Given the description of an element on the screen output the (x, y) to click on. 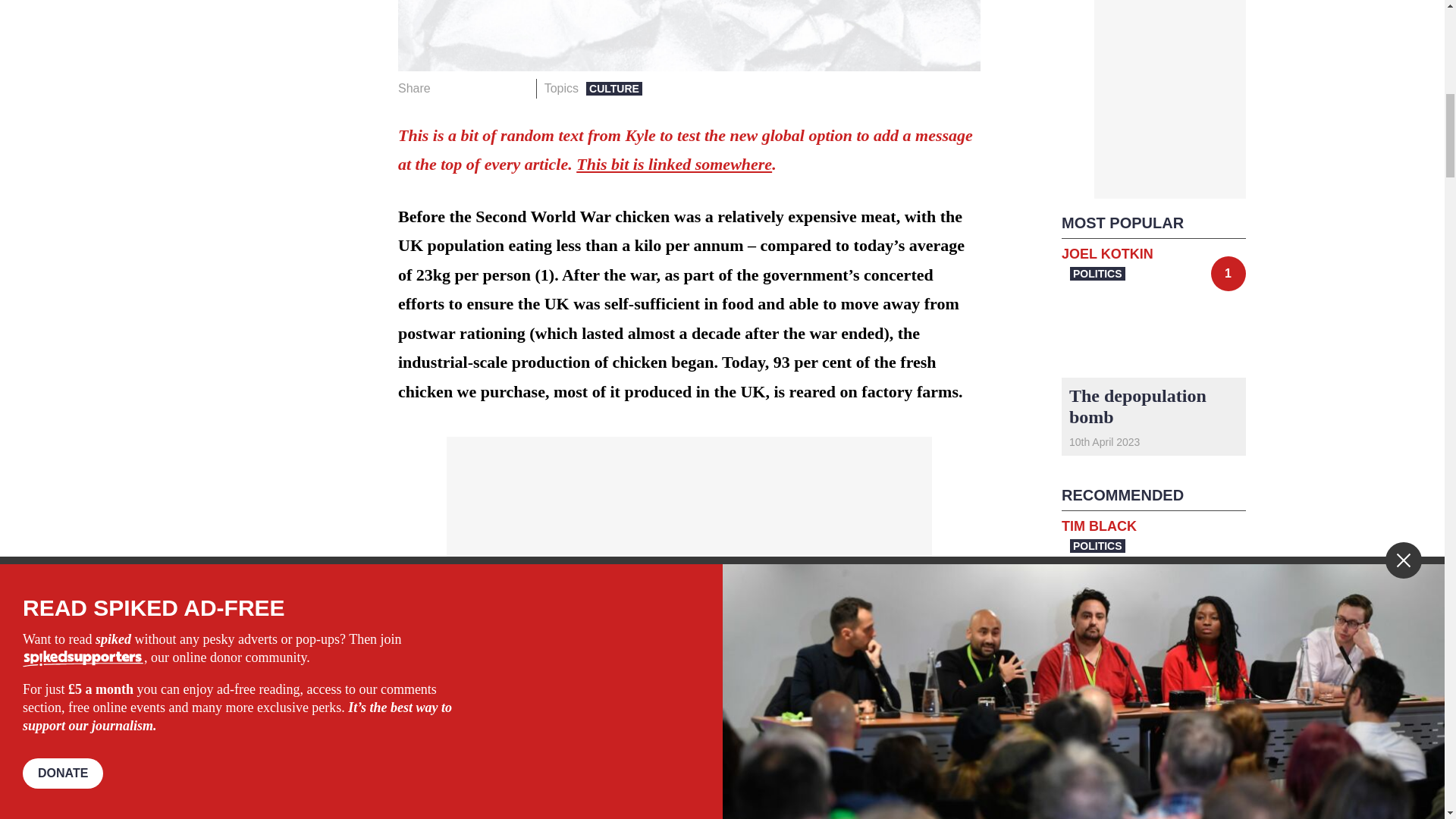
Share on Facebook (448, 88)
Share on Email (518, 88)
Share on Twitter (471, 88)
Share on Whatsapp (494, 88)
